Given the description of an element on the screen output the (x, y) to click on. 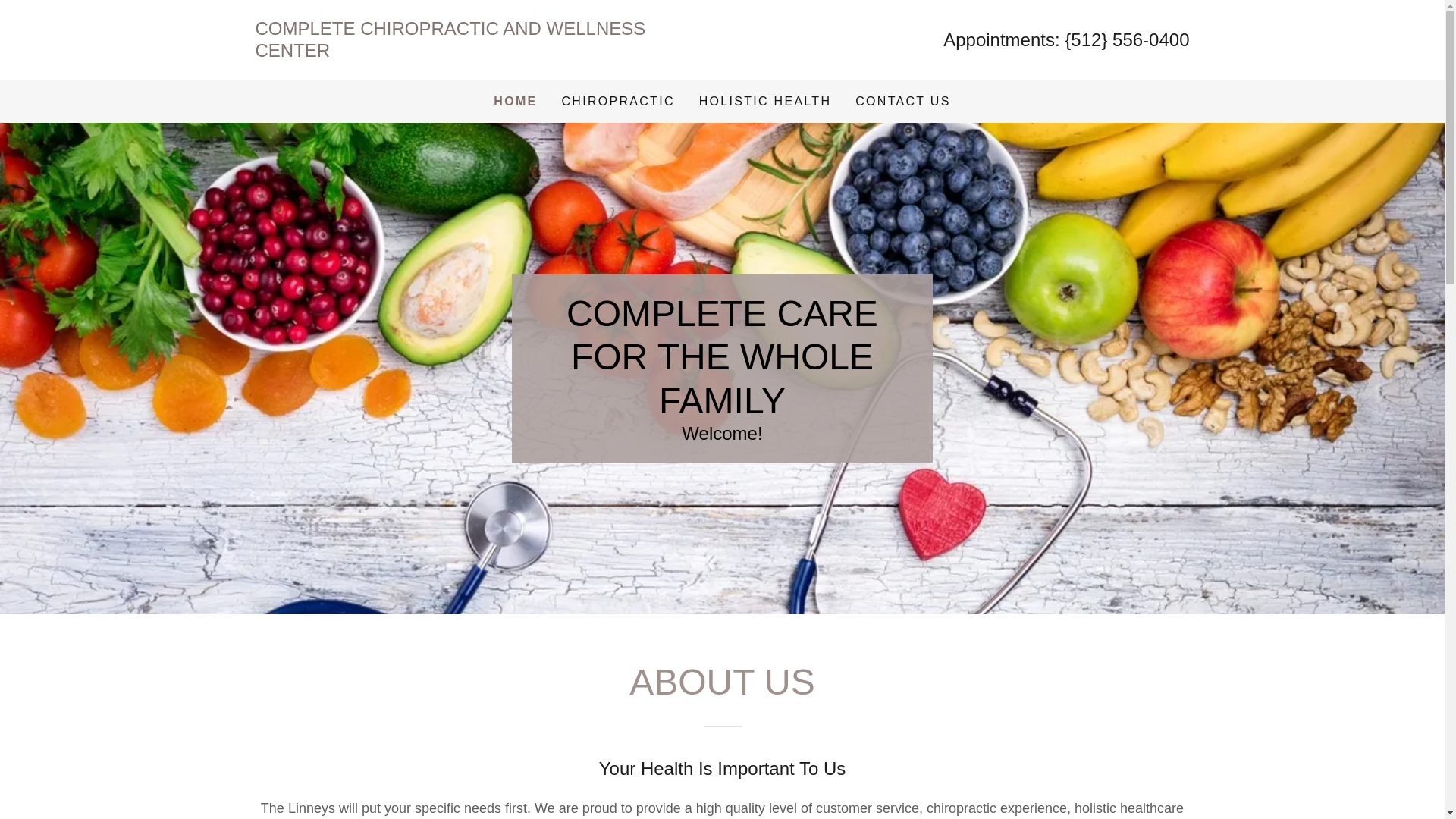
COMPLETE CHIROPRACTIC AND WELLNESS CENTER (488, 52)
556-0400 (1150, 39)
CHIROPRACTIC (617, 101)
512 (1085, 39)
CONTACT US (902, 101)
Complete Chiropractic and Wellness Center (488, 52)
HOLISTIC HEALTH (764, 101)
HOME (515, 101)
